Given the description of an element on the screen output the (x, y) to click on. 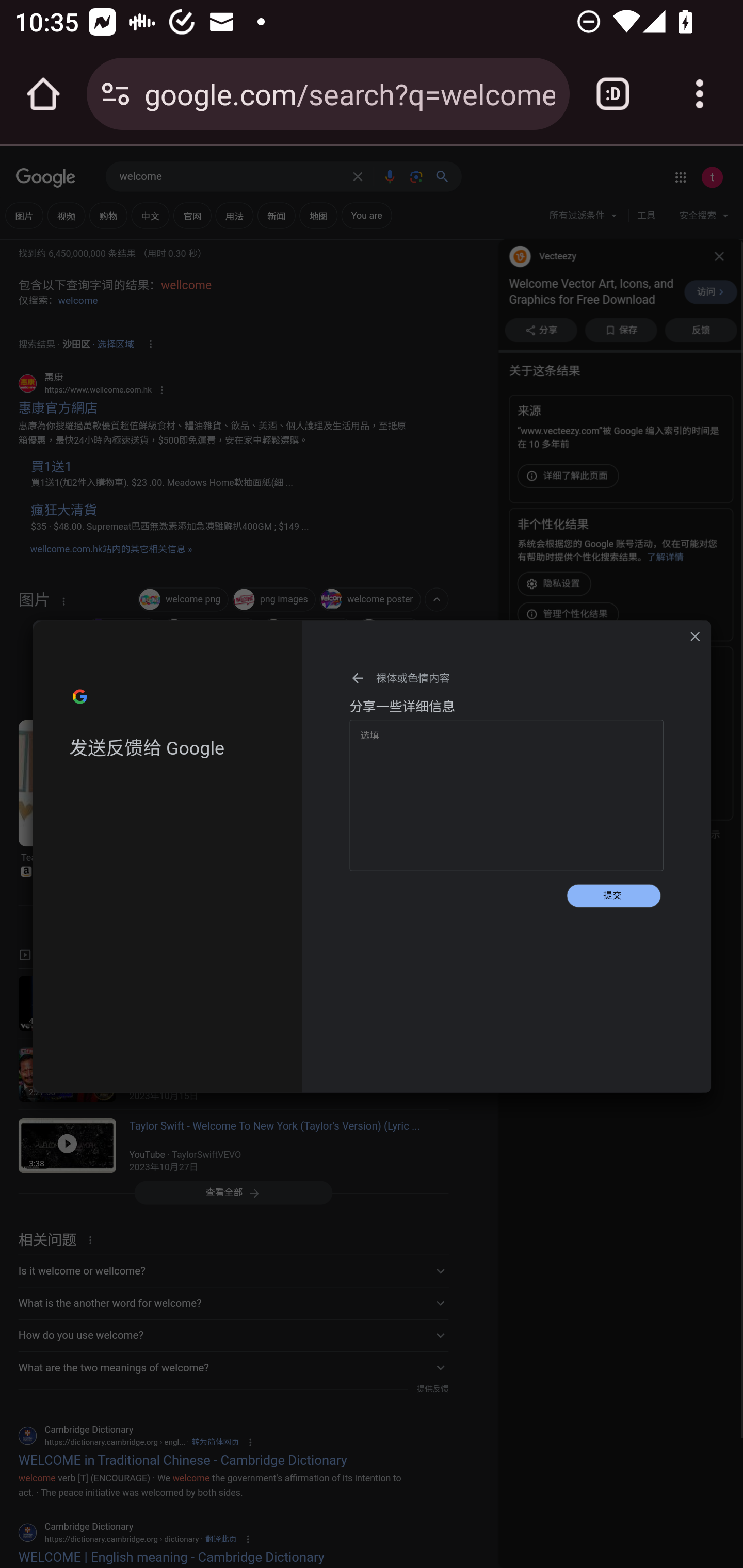
Open the home page (43, 93)
Connection is secure (115, 93)
Switch or close tabs (612, 93)
Customize and control Google Chrome (699, 93)
关闭 (694, 636)
返回 裸体或色情内容 (506, 677)
提交 (613, 894)
